Given the description of an element on the screen output the (x, y) to click on. 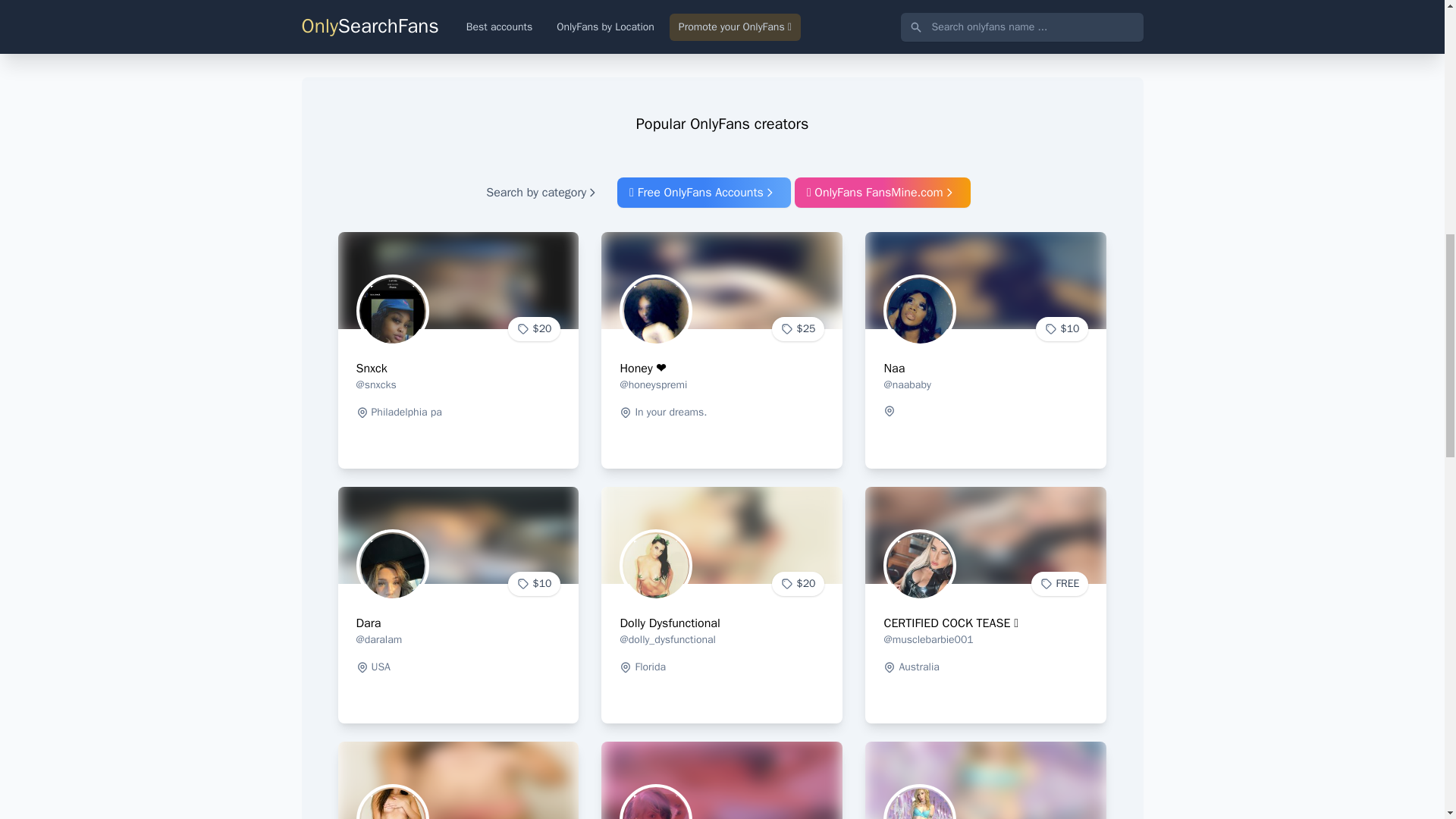
Free OnlyFans Accounts, updated April 2021 (703, 192)
OnlyFans Free Trials, updated April 2021 (882, 192)
Best OnlyFans creators in Mexico (631, 18)
Winnipeg (631, 18)
Search OnlyFans accounts by category (543, 192)
Search by category (543, 192)
